Given the description of an element on the screen output the (x, y) to click on. 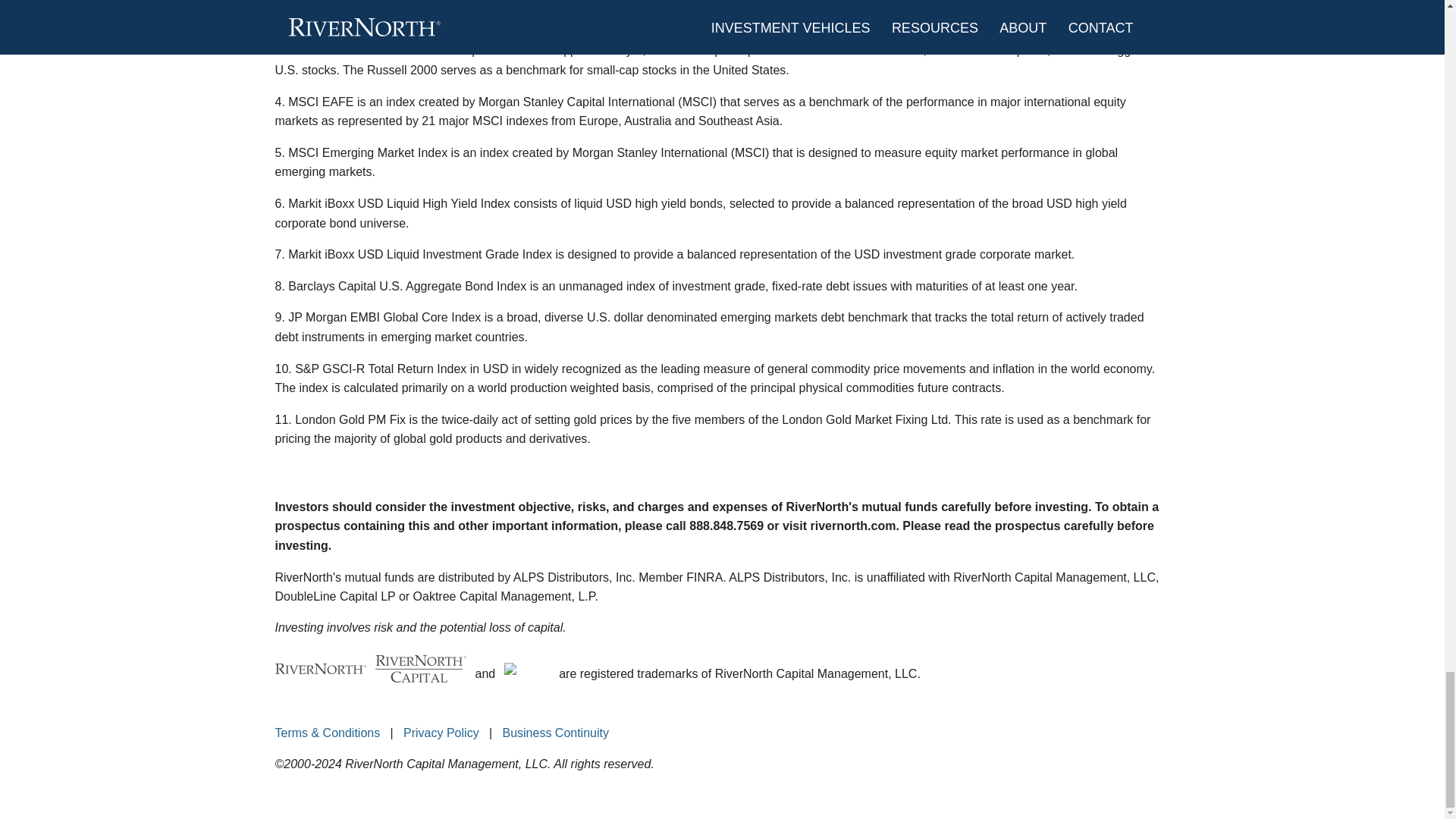
Privacy Policy (441, 732)
Terms and Conditions (327, 732)
Business Continuity (555, 732)
